Given the description of an element on the screen output the (x, y) to click on. 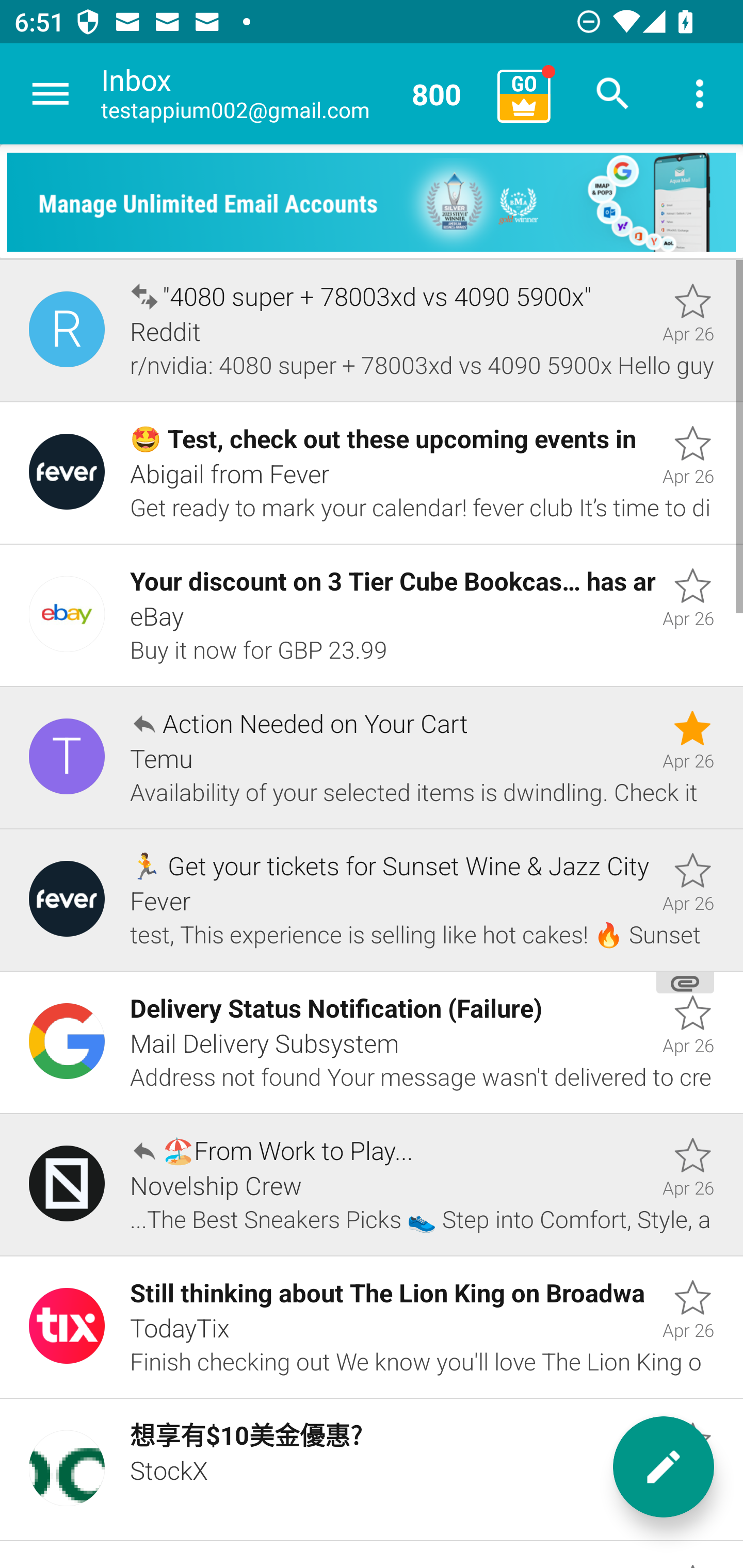
Navigate up (50, 93)
Inbox testappium002@gmail.com 800 (291, 93)
Search (612, 93)
More options (699, 93)
Unread, 想享有$10美金優惠?, StockX, Apr 26 (371, 1469)
New message (663, 1466)
